Given the description of an element on the screen output the (x, y) to click on. 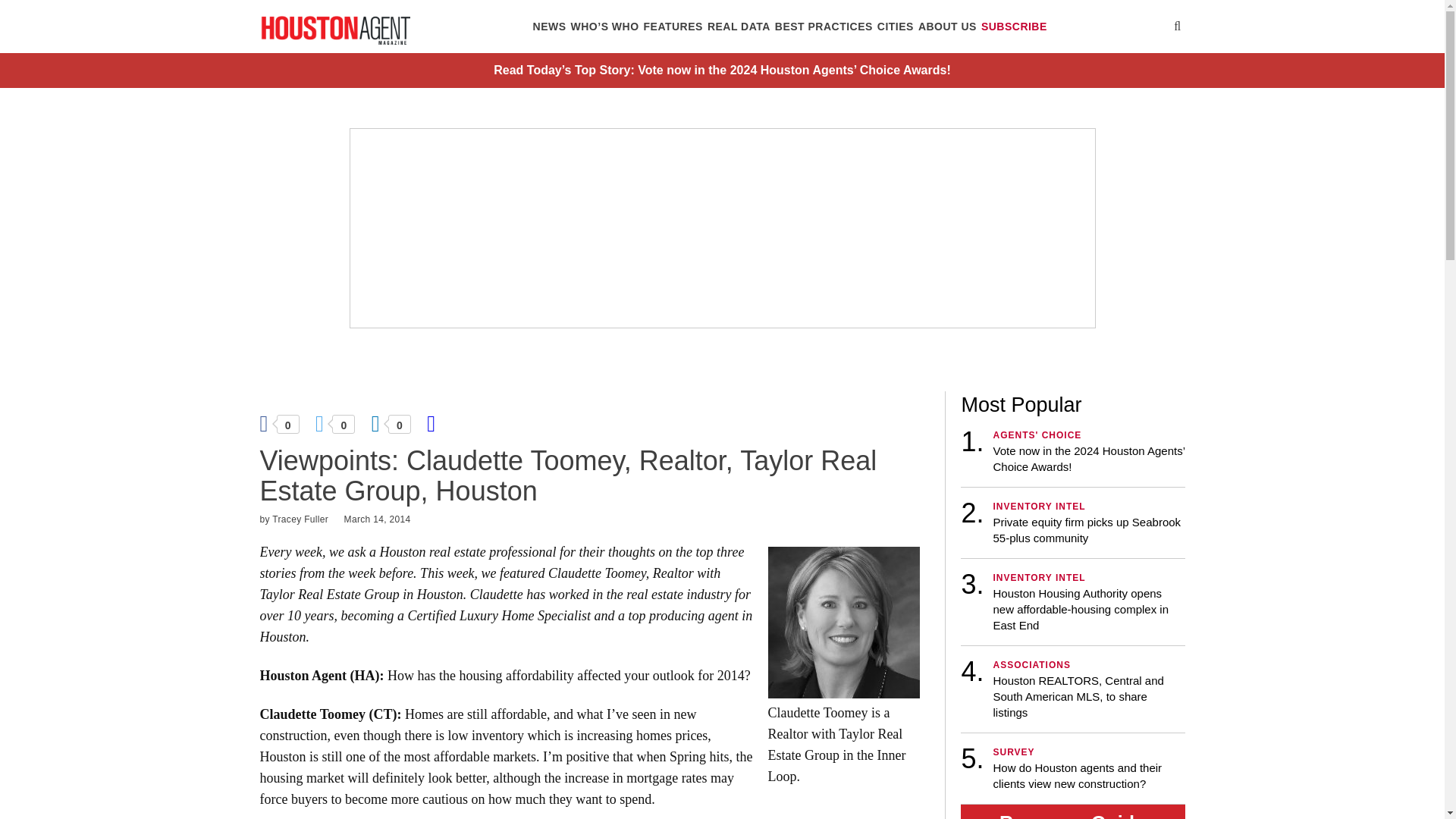
Facebook (278, 422)
NEWS (550, 26)
FEATURES (673, 26)
LinkedIn (390, 422)
Twitter (333, 422)
